Given the description of an element on the screen output the (x, y) to click on. 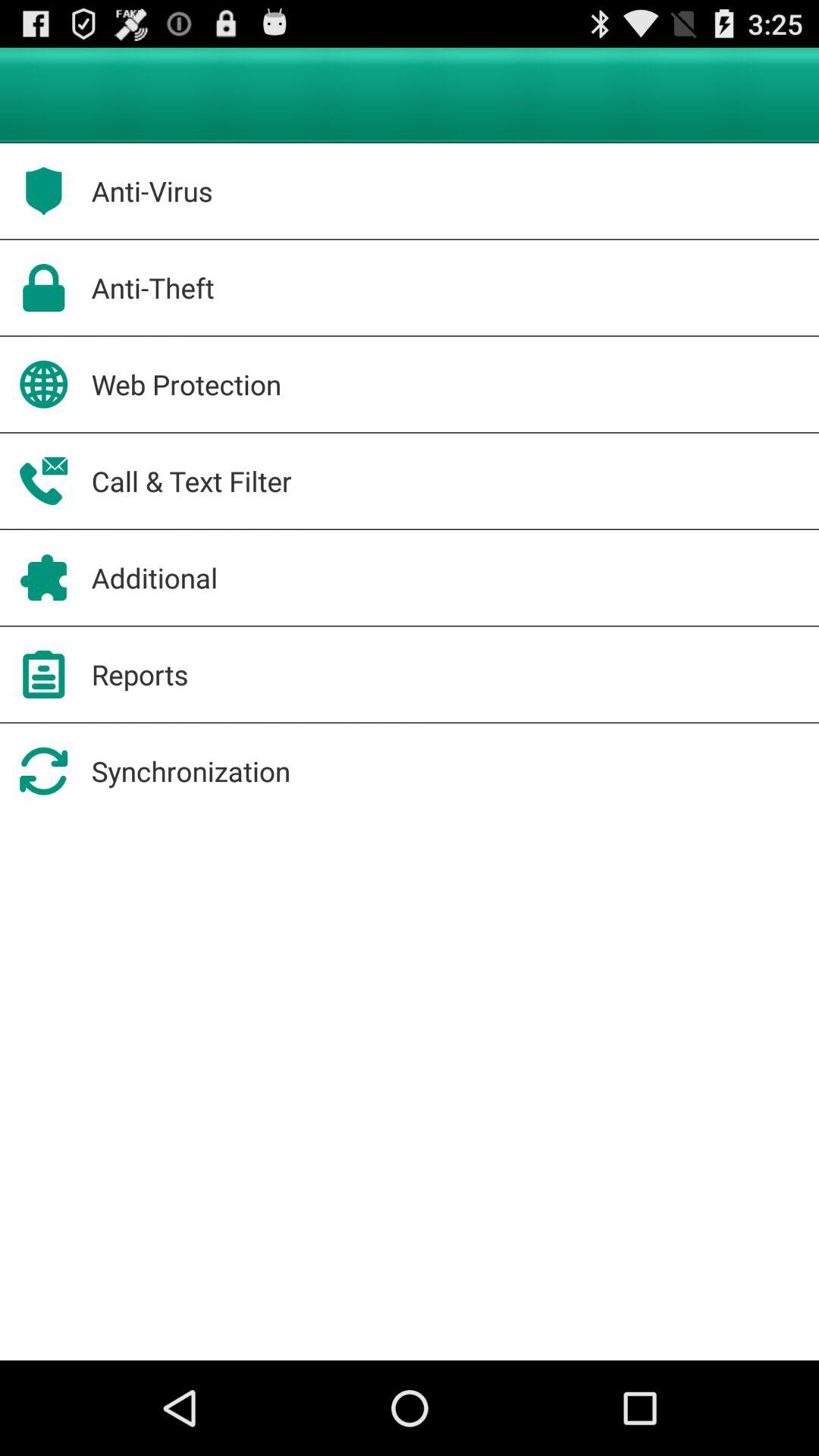
select icon below the web protection item (191, 480)
